Given the description of an element on the screen output the (x, y) to click on. 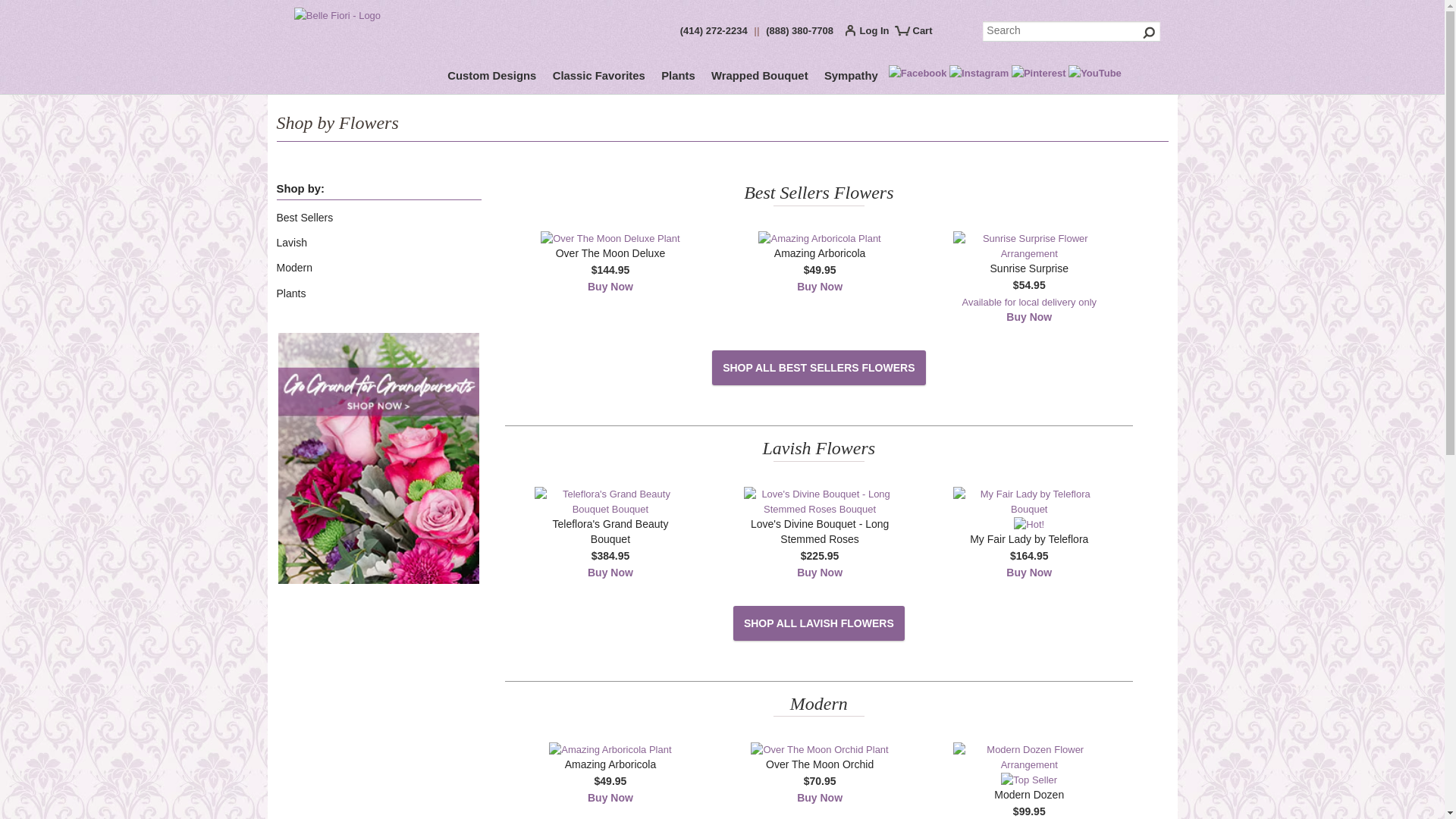
Sympathy (850, 78)
Go (1149, 32)
Cart (919, 36)
Classic Favorites (598, 78)
Wrapped Bouquet (759, 78)
Search (1071, 31)
Log In (870, 33)
log In (870, 33)
Custom Designs (491, 78)
Plants (678, 78)
